Given the description of an element on the screen output the (x, y) to click on. 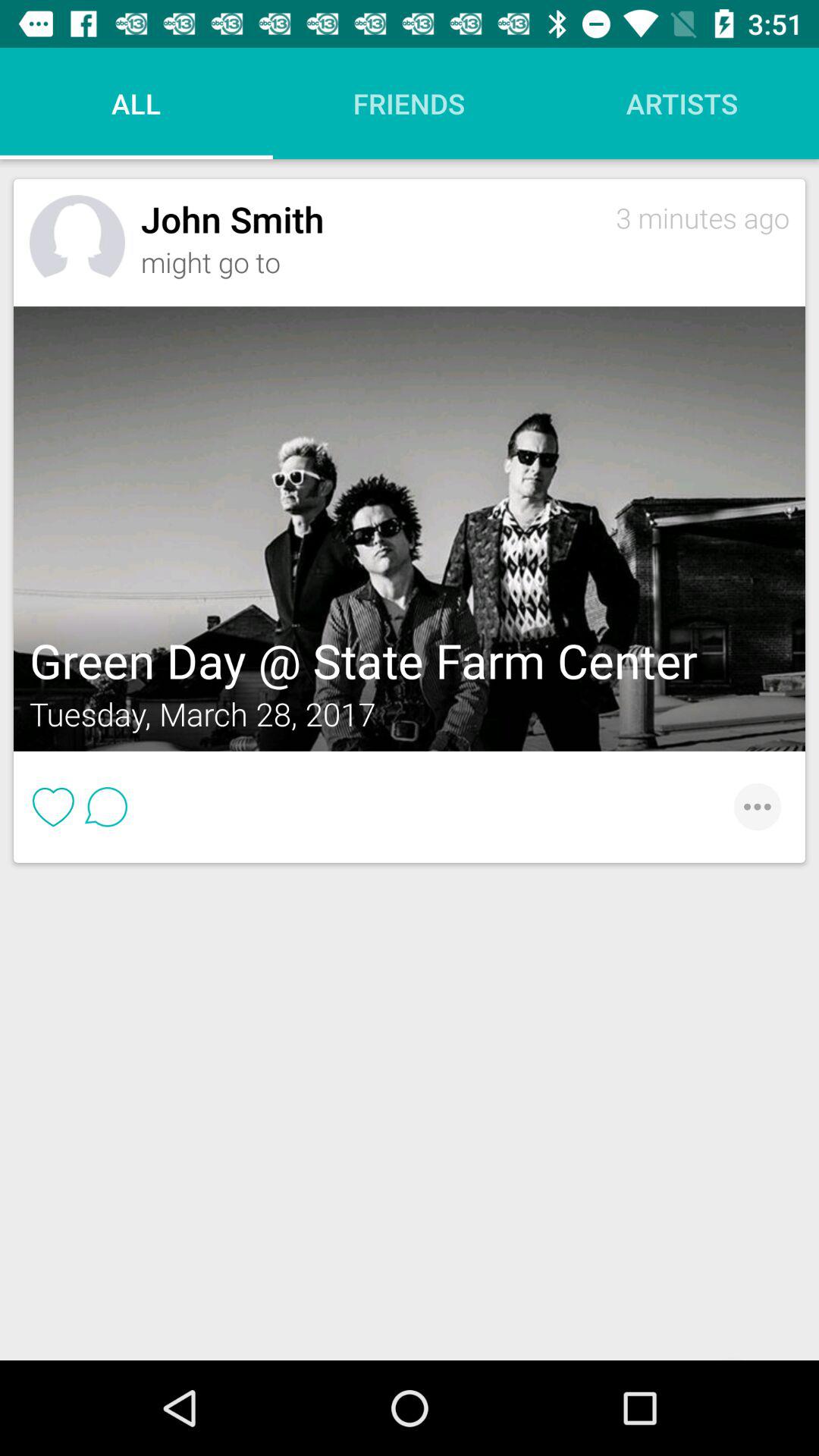
select image on page (409, 528)
select icon beside the john smith (77, 242)
click on button at  right side bottom (749, 807)
